Given the description of an element on the screen output the (x, y) to click on. 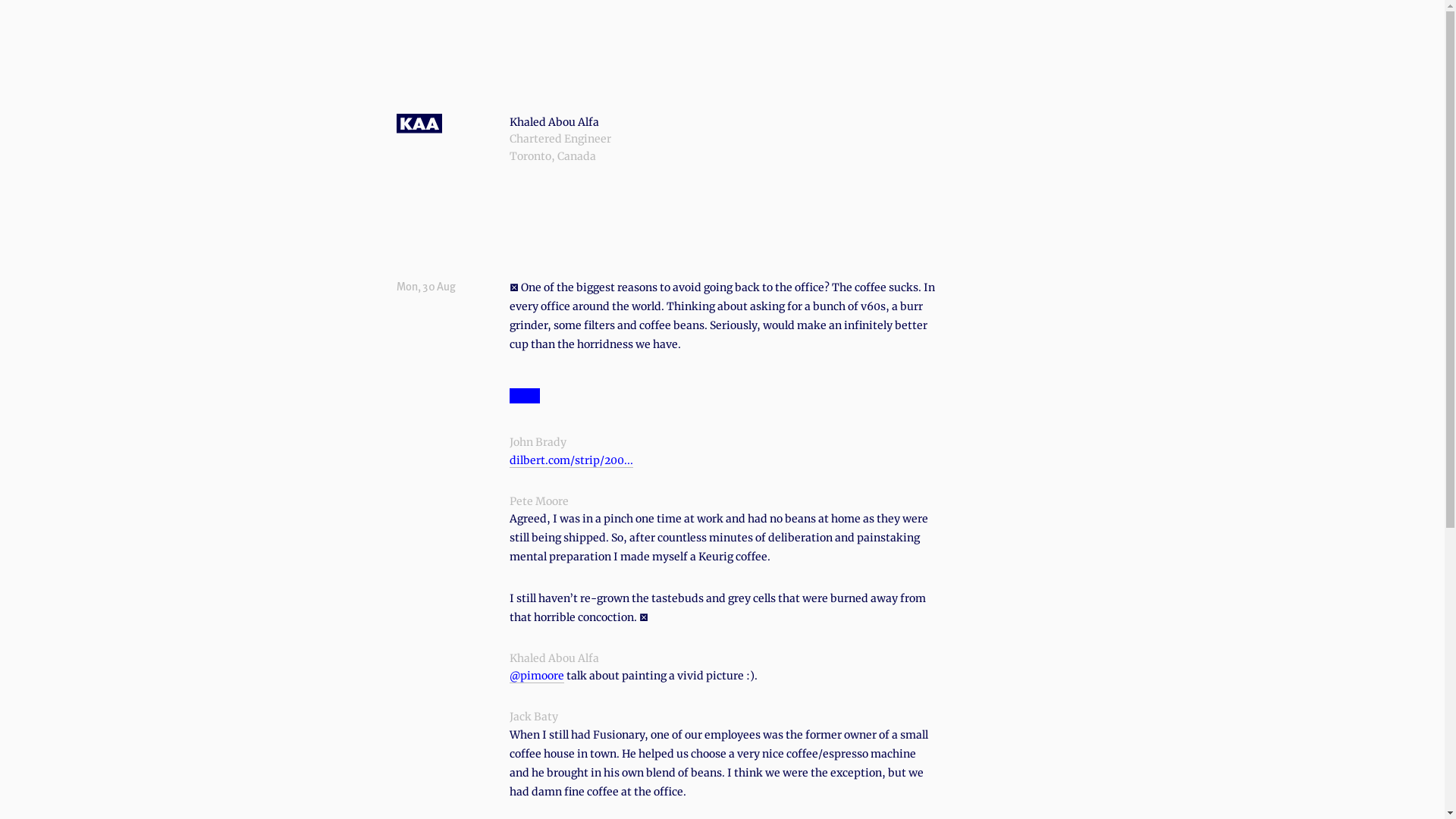
@pimoore Element type: text (536, 675)
Khaled Abou Alfa Element type: text (554, 121)
dilbert.com/strip/200... Element type: text (571, 460)
